Given the description of an element on the screen output the (x, y) to click on. 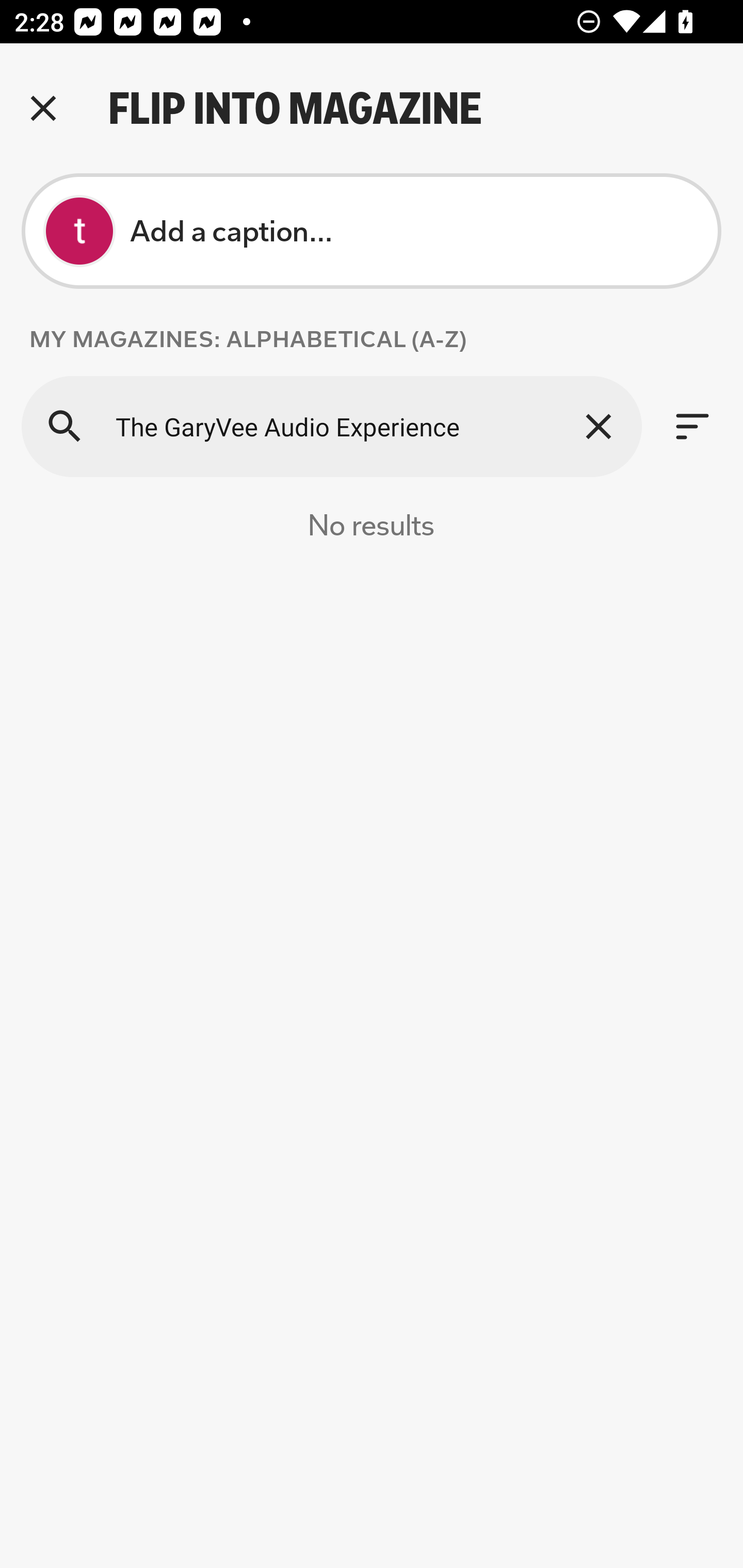
test appium Add a caption… (371, 231)
The GaryVee Audio Experience Search (331, 426)
